Given the description of an element on the screen output the (x, y) to click on. 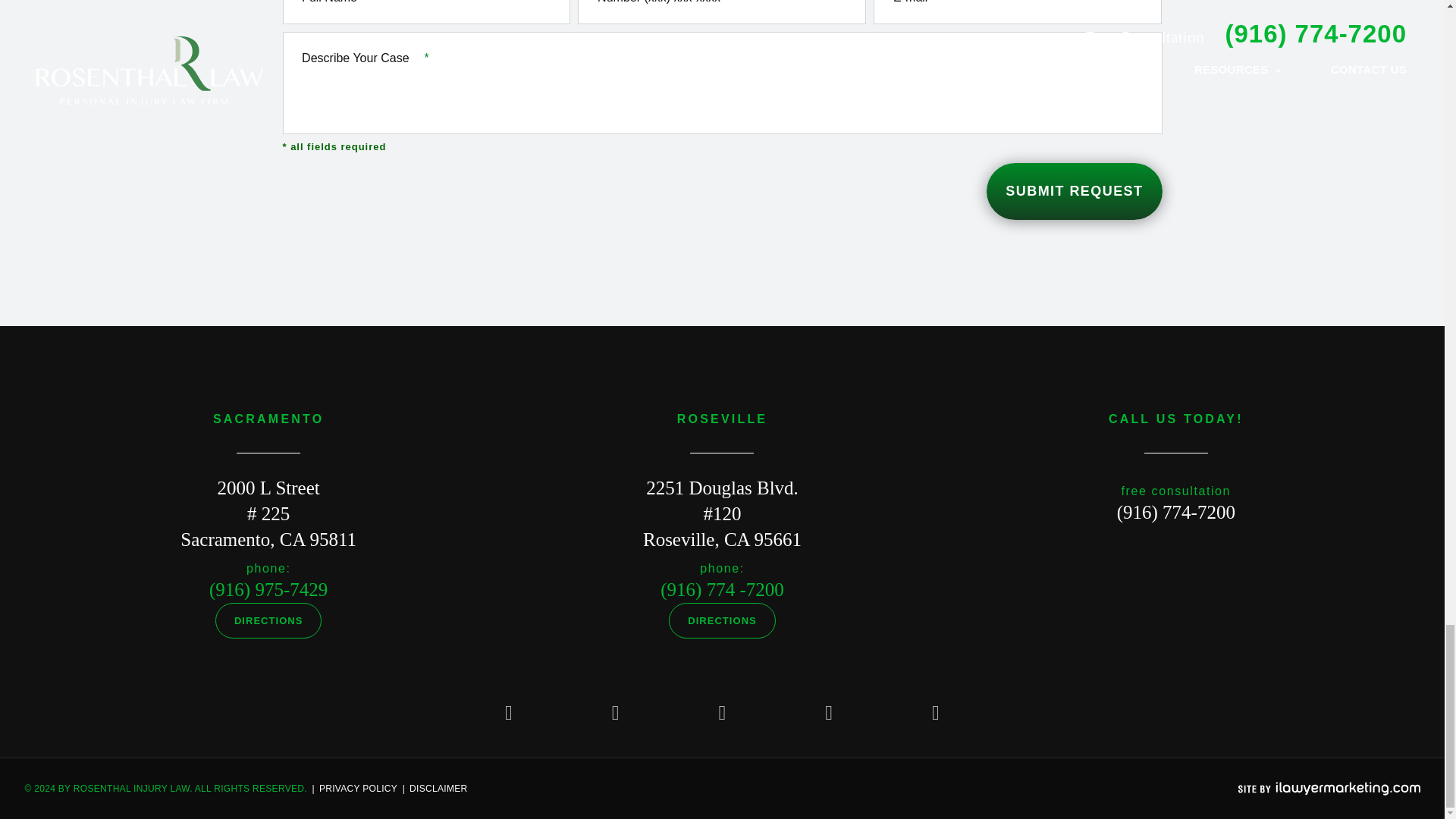
Phone (722, 589)
Free Consultation (1175, 512)
Phone (268, 589)
